Given the description of an element on the screen output the (x, y) to click on. 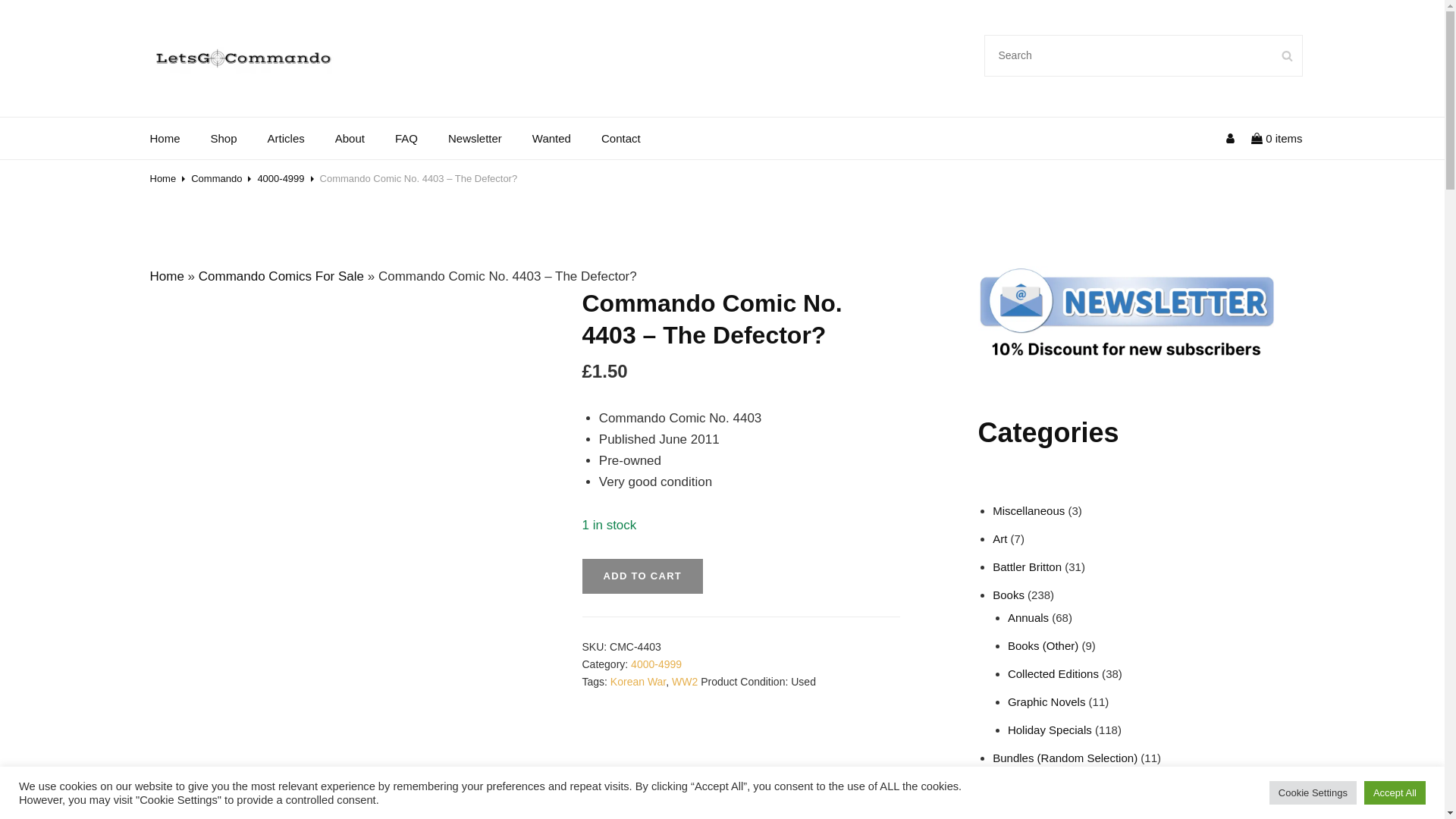
Home (166, 276)
4000-4999 (655, 664)
Newsletter (474, 137)
Korean War (637, 681)
View your shopping cart 0 items (1276, 137)
View your shopping cart (1276, 137)
FAQ (406, 137)
LETSGOCOMMANDO (273, 49)
Home (165, 137)
Commando (215, 178)
